Given the description of an element on the screen output the (x, y) to click on. 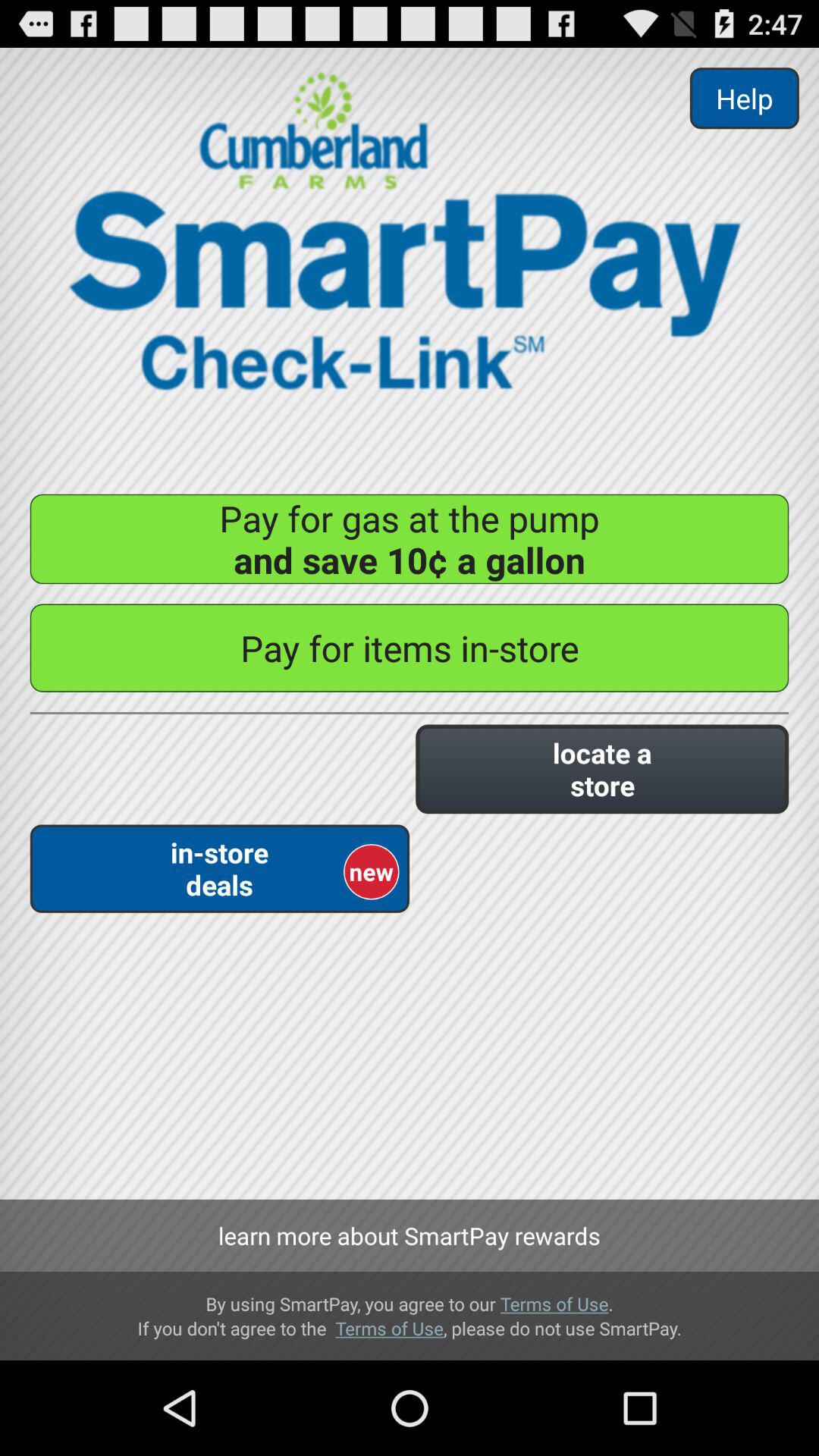
turn on icon next to the in-store
deals button (601, 768)
